Given the description of an element on the screen output the (x, y) to click on. 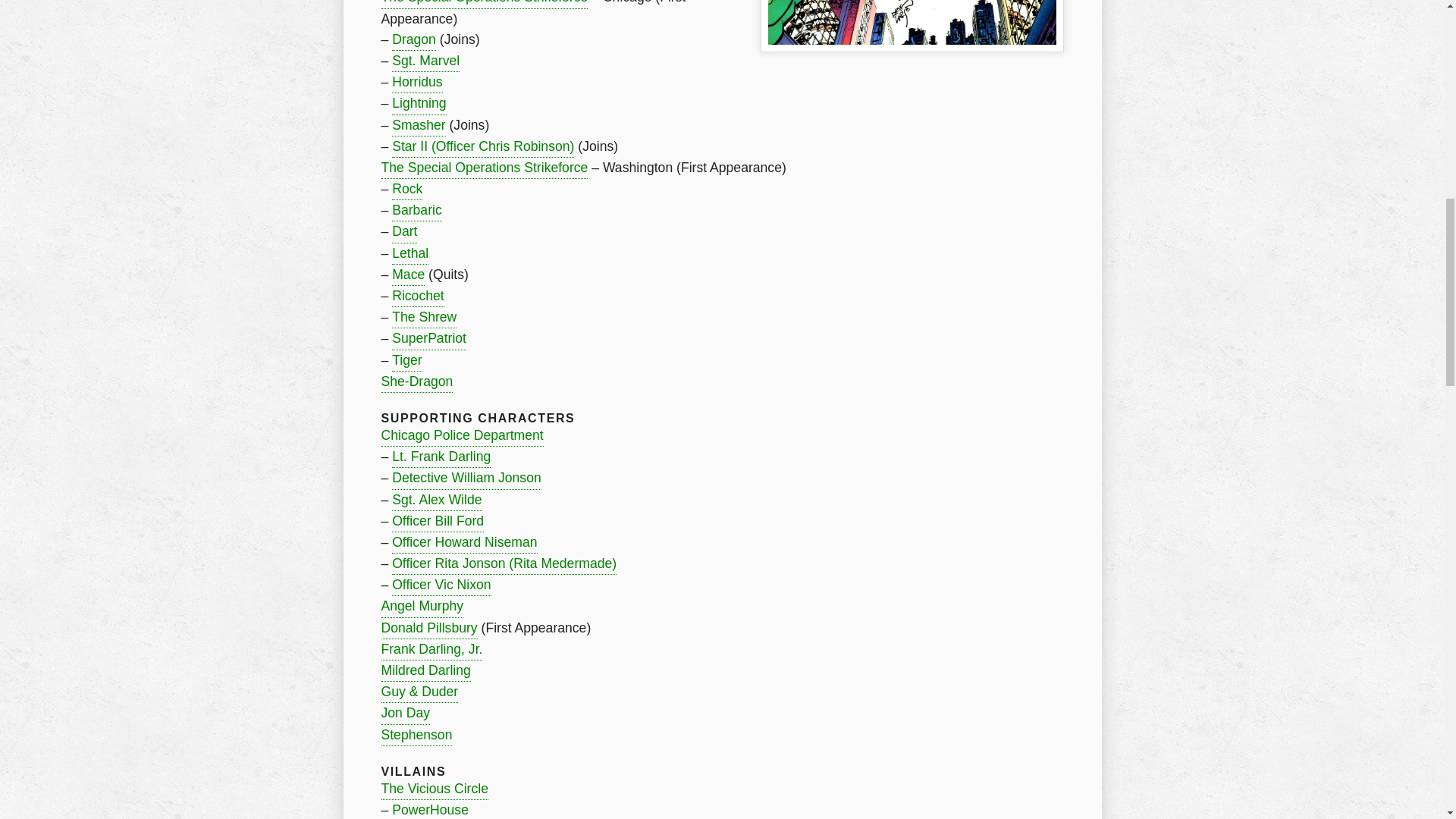
Tiger (406, 360)
SuperPatriot (428, 338)
Barbaric (416, 210)
Dragon (413, 39)
Lightning (418, 103)
Sgt. Marvel (425, 61)
Horridus (416, 82)
Dart (403, 231)
The Shrew (424, 317)
Rock (406, 189)
Smasher (418, 125)
The Special Operations Strikeforce (484, 168)
Lethal (409, 253)
Mace (408, 274)
The Special Operations Strikeforce (484, 4)
